Given the description of an element on the screen output the (x, y) to click on. 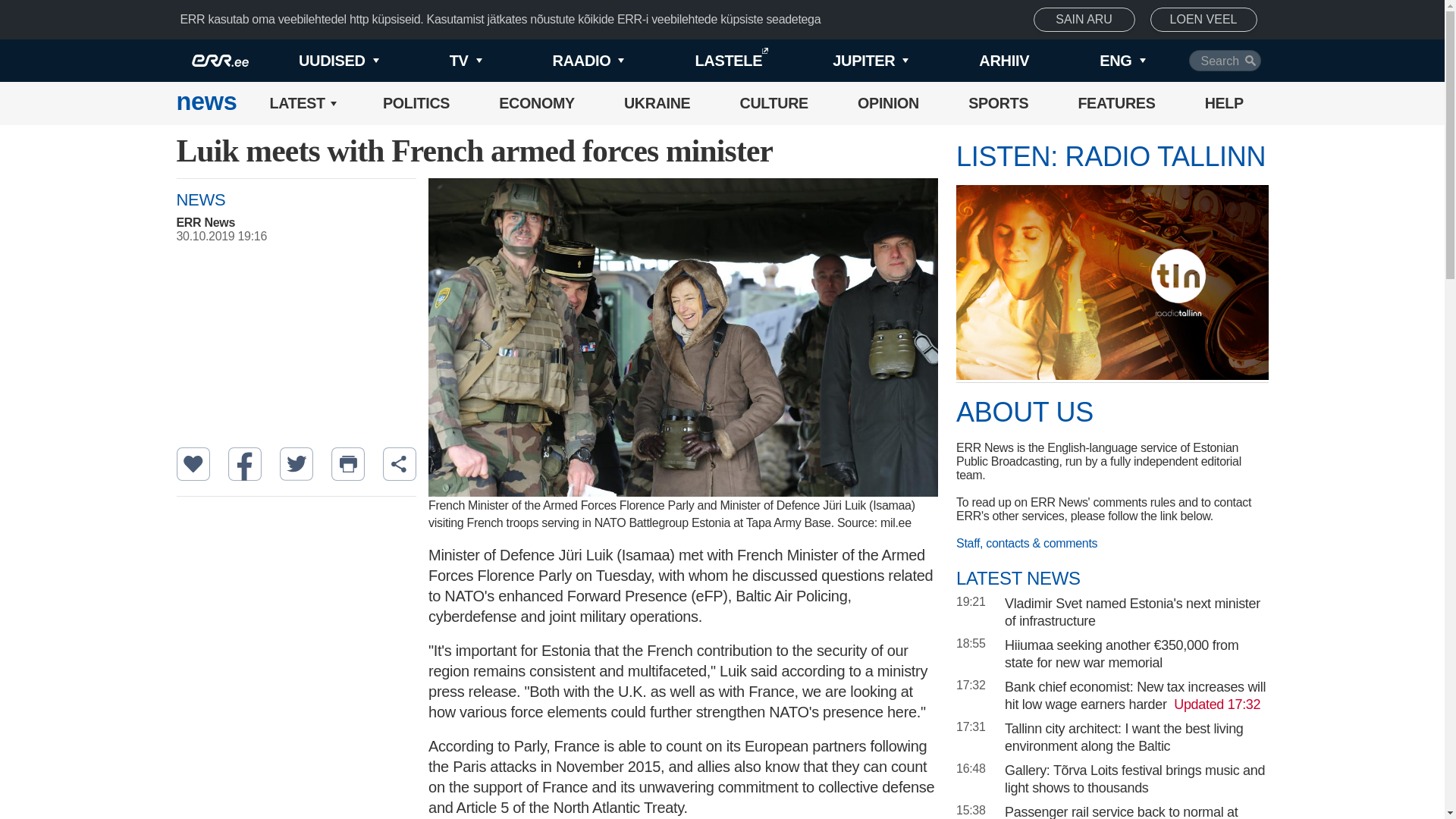
30.10.2019 19:16 (302, 236)
LOEN VEEL (1203, 19)
UUDISED (314, 60)
SAIN ARU (1084, 19)
TV (440, 60)
RAADIO (563, 60)
Avalehele (205, 103)
